Given the description of an element on the screen output the (x, y) to click on. 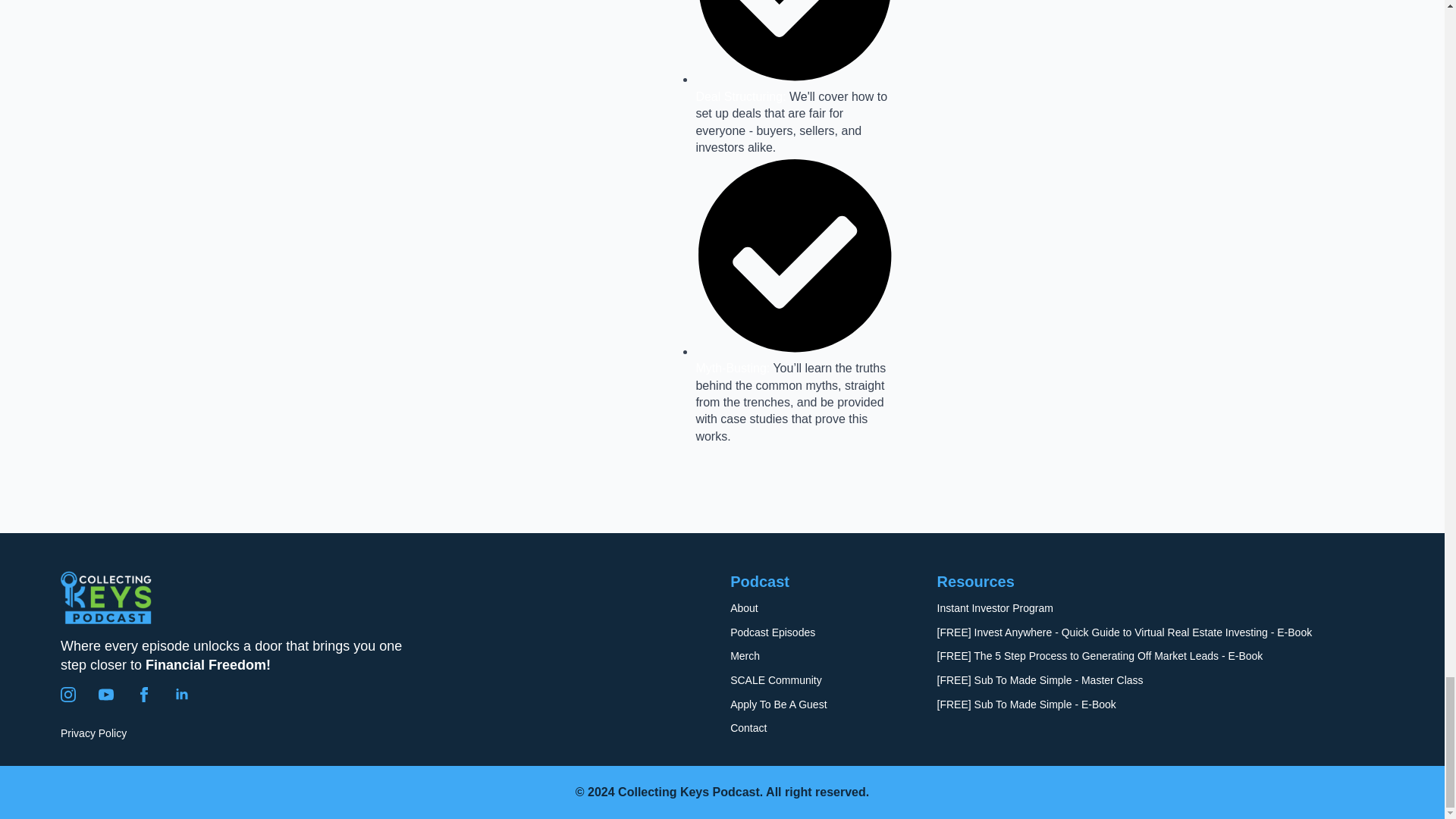
SCALE Community (776, 680)
Merch (745, 656)
About (744, 608)
Privacy Policy (93, 734)
Podcast Episodes (772, 632)
